Given the description of an element on the screen output the (x, y) to click on. 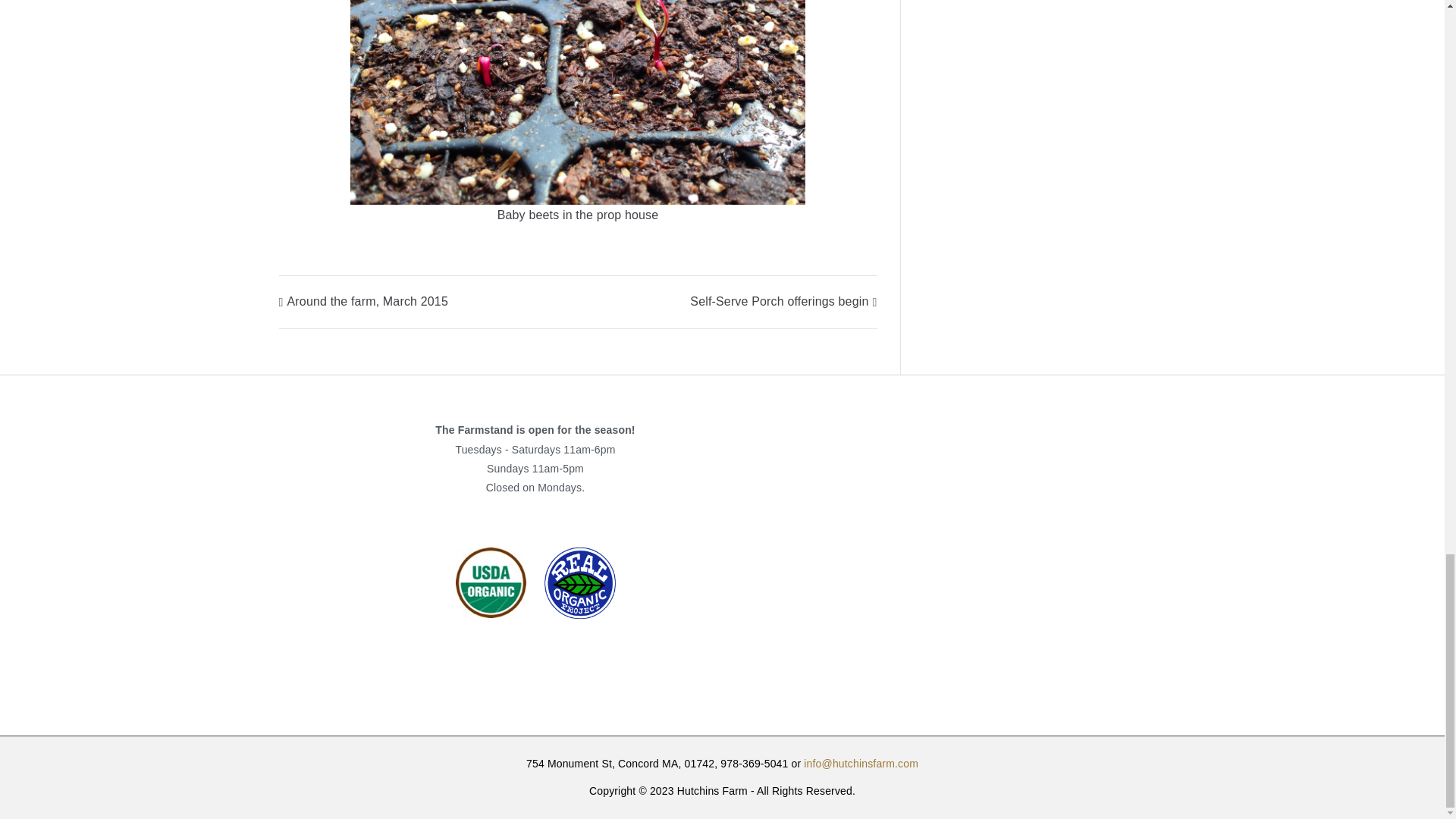
Around the farm, March 2015 (363, 300)
Self-Serve Porch offerings begin (783, 300)
